Given the description of an element on the screen output the (x, y) to click on. 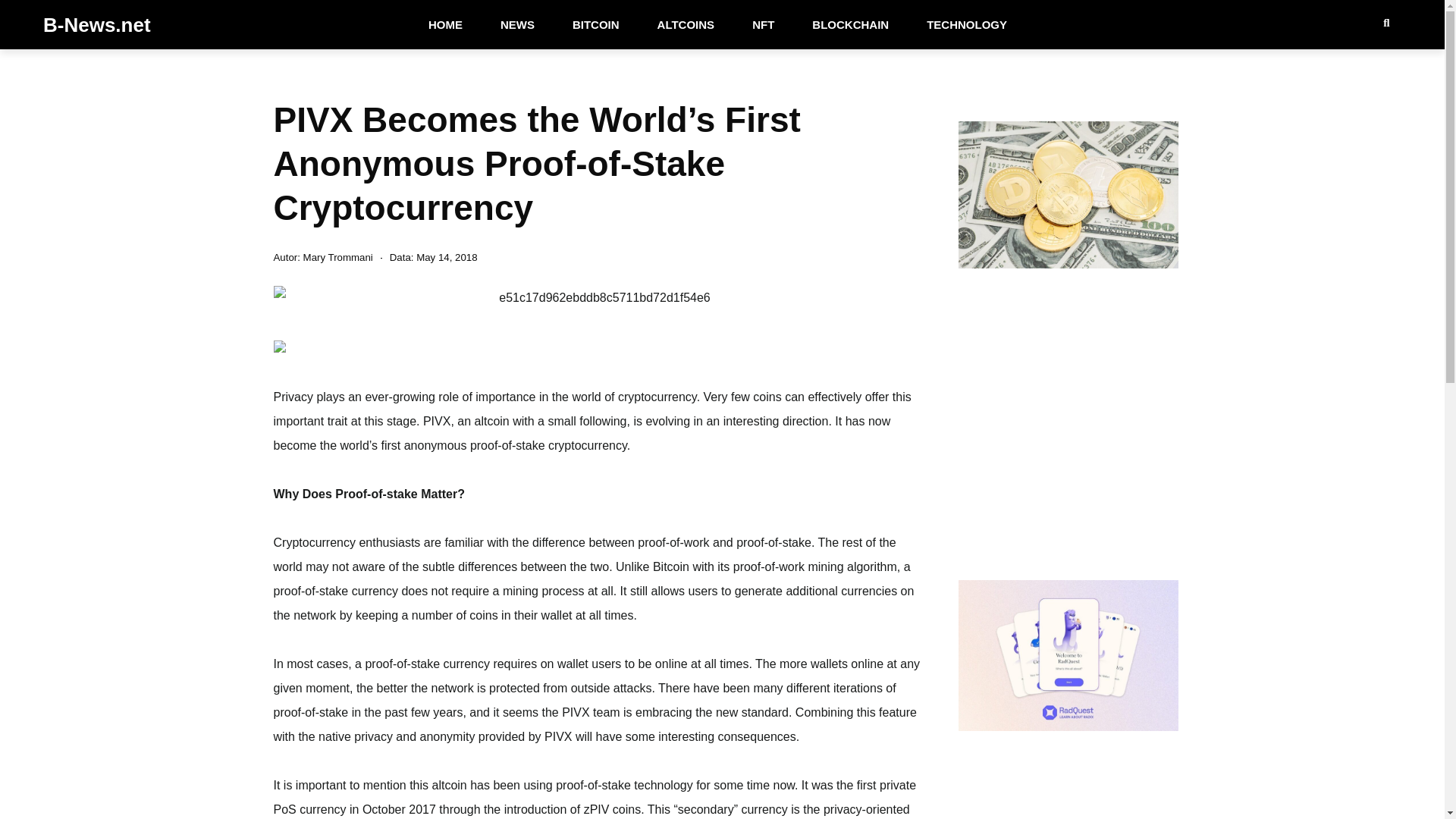
ALTCOINS (686, 24)
BITCOIN (596, 24)
B-News.net (97, 24)
TECHNOLOGY (966, 24)
BLOCKCHAIN (850, 24)
HOME (445, 24)
e51c17d962ebddb8c5711bd72d1f54e6 (598, 297)
NFT (763, 24)
NEWS (517, 24)
